Given the description of an element on the screen output the (x, y) to click on. 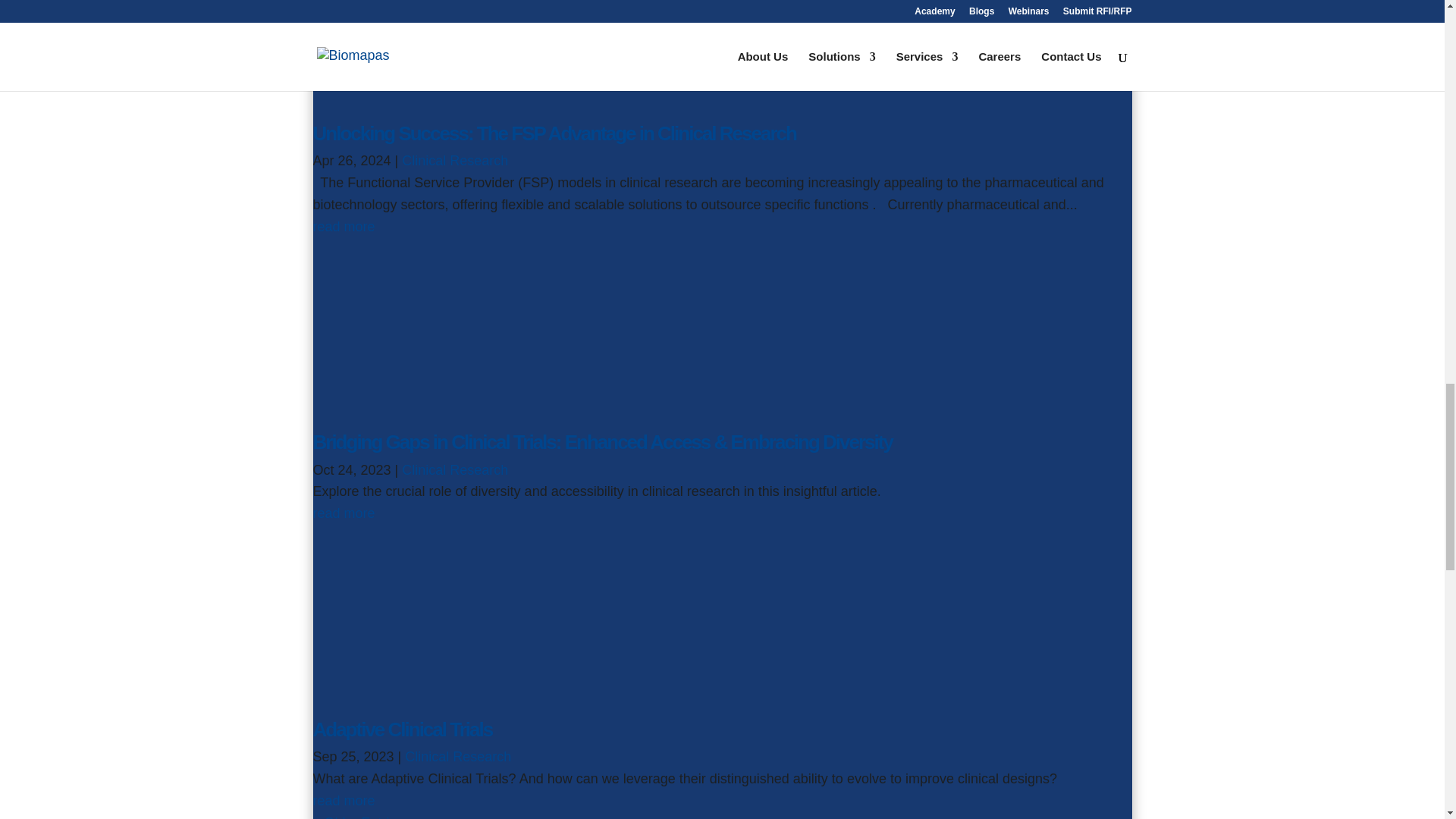
Clinical Research (454, 160)
Clinical Research (454, 469)
Unlocking Success: The FSP Advantage in Clinical Research (553, 133)
read more (343, 800)
Clinical Research (457, 756)
read more (343, 513)
Adaptive Clinical Trials (402, 729)
read more (343, 226)
